Given the description of an element on the screen output the (x, y) to click on. 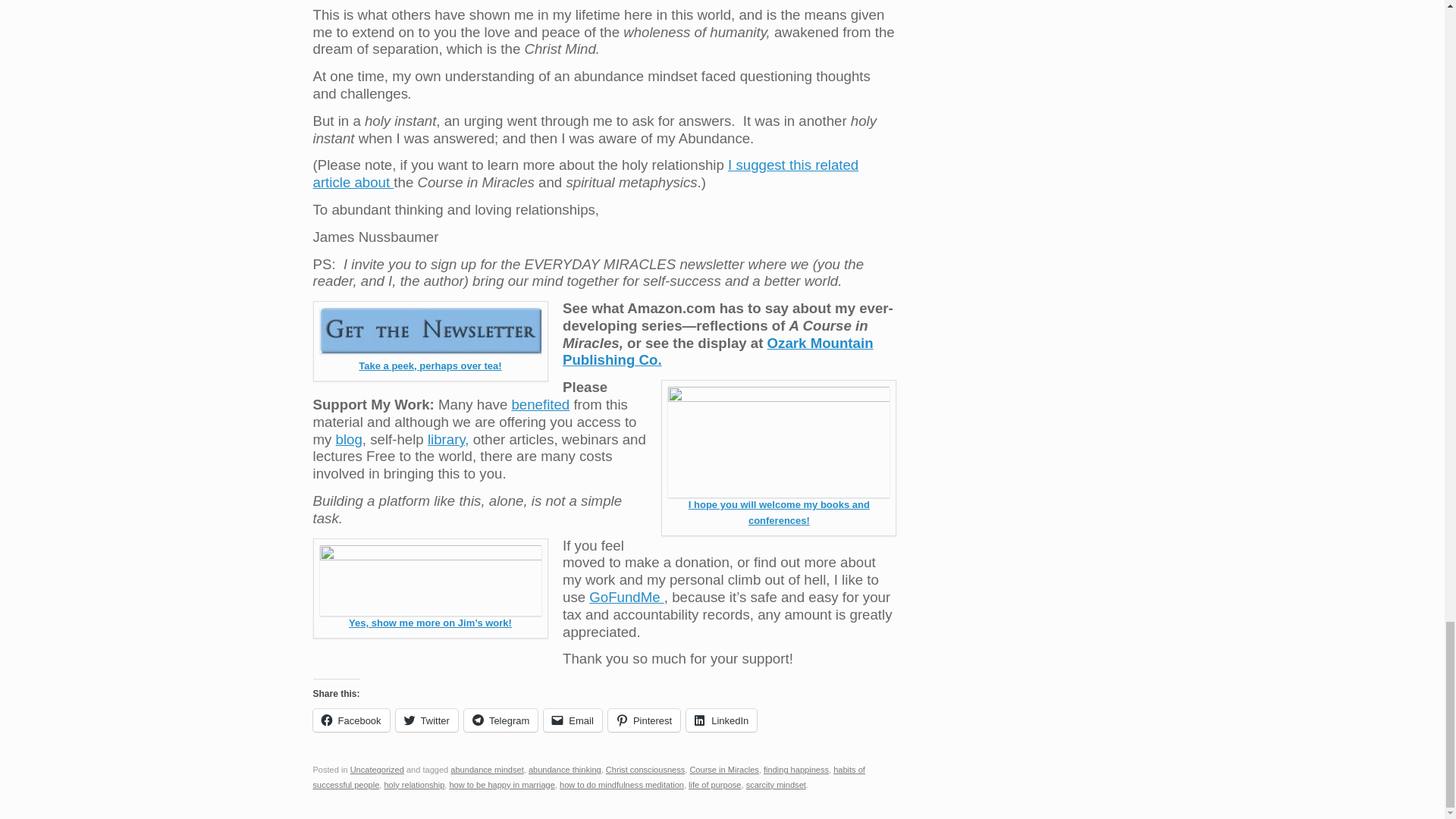
Click to share on Twitter (427, 720)
Click to share on LinkedIn (721, 720)
I suggest this related article about (586, 173)
Click to email a link to a friend (572, 720)
Click to share on Pinterest (643, 720)
blog (349, 439)
GoFundMe  (626, 596)
library, (448, 439)
Click to share on Facebook (350, 720)
benefited (540, 404)
Take a peek, perhaps over tea! (429, 365)
I hope you will welcome my books and conferences! (778, 512)
Click to share on Telegram (500, 720)
Facebook (350, 720)
Ozark Mountain Publishing Co. (717, 351)
